Given the description of an element on the screen output the (x, y) to click on. 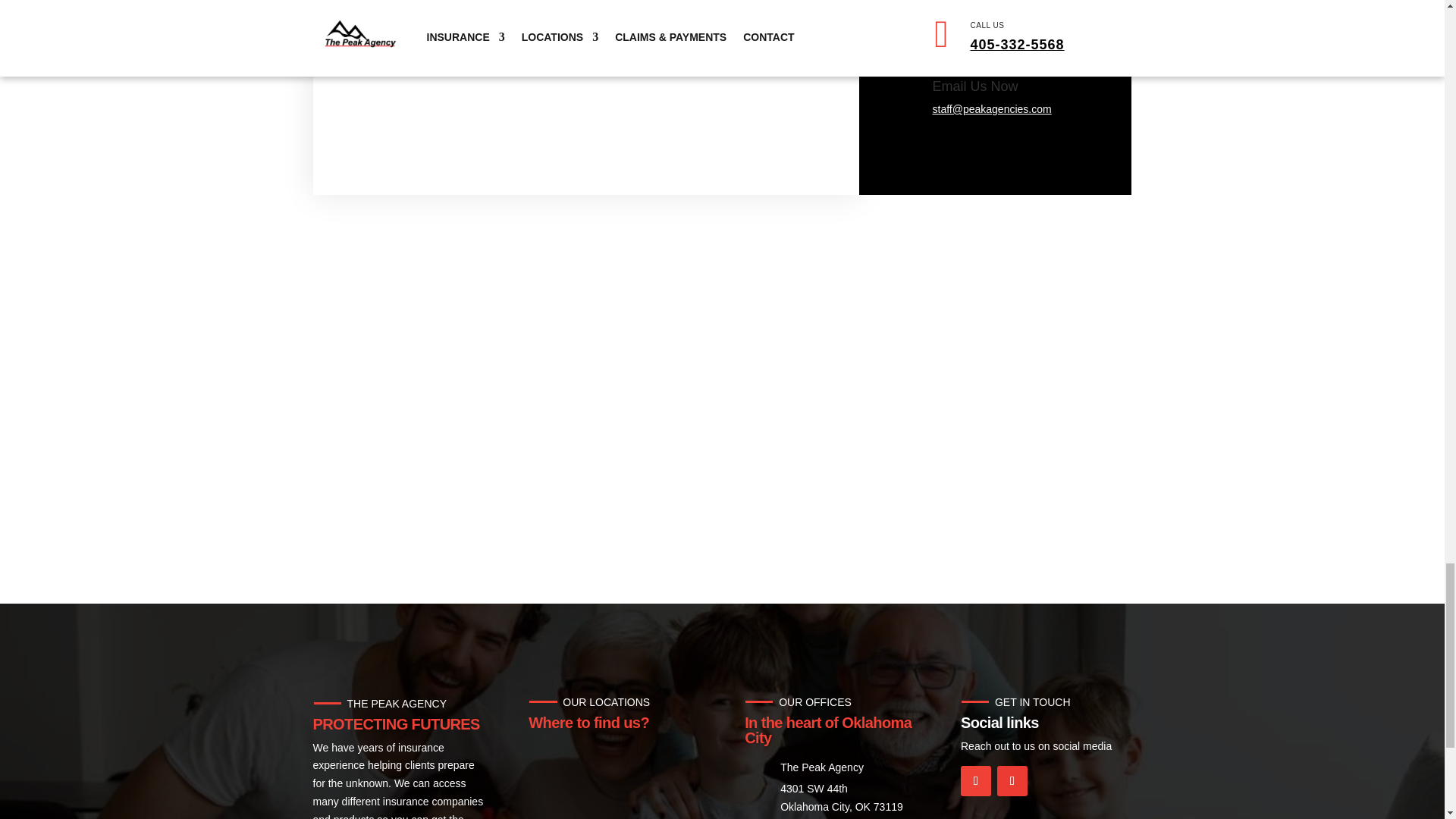
Follow on Facebook (975, 780)
Follow on Google (1012, 780)
